Given the description of an element on the screen output the (x, y) to click on. 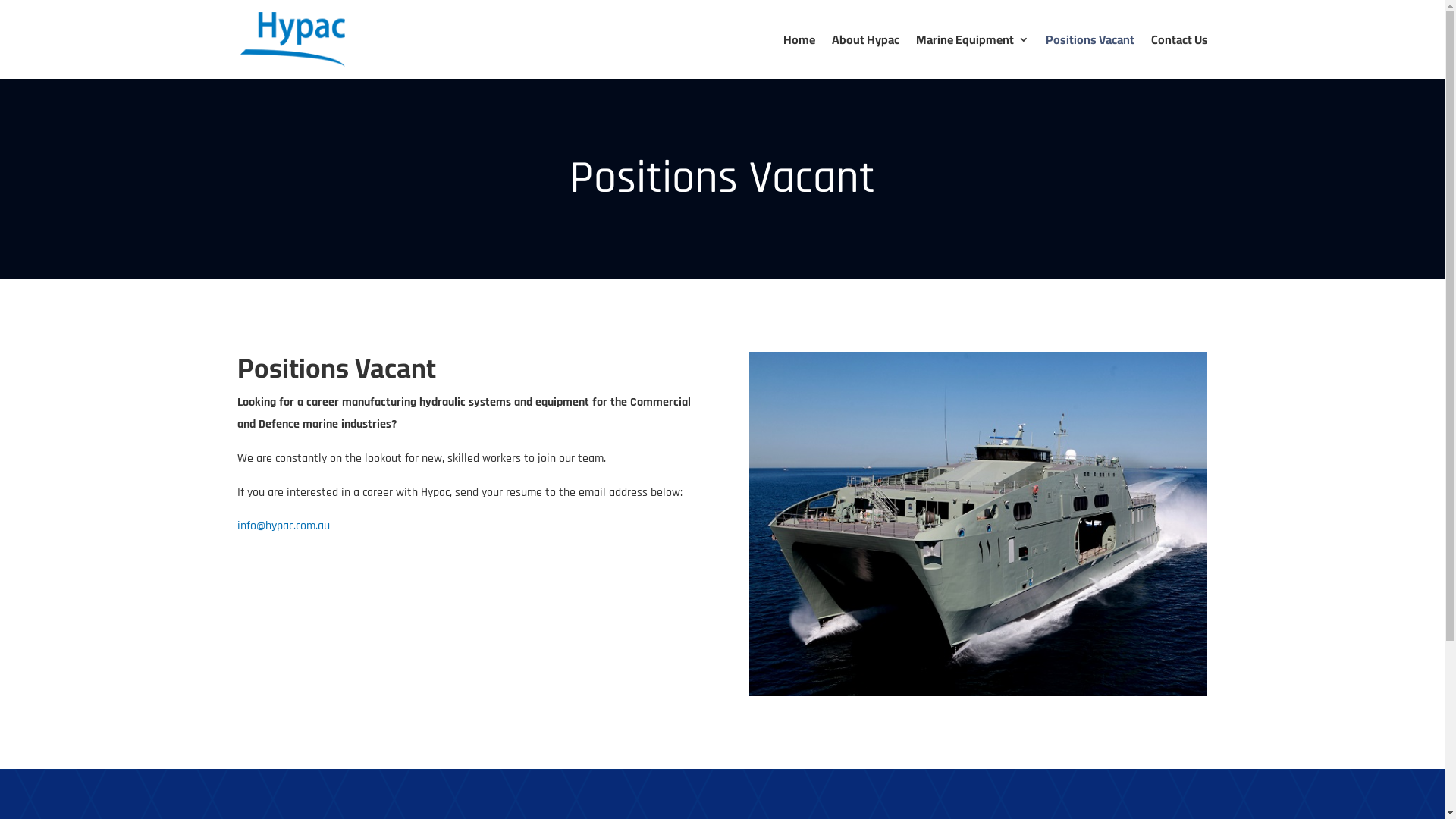
Positions Vacant Element type: text (1088, 56)
Home Element type: text (798, 56)
info@hypac.com.au Element type: text (282, 525)
Contact Us Element type: text (1179, 56)
About Hypac Element type: text (864, 56)
Marine Equipment Element type: text (972, 56)
